Given the description of an element on the screen output the (x, y) to click on. 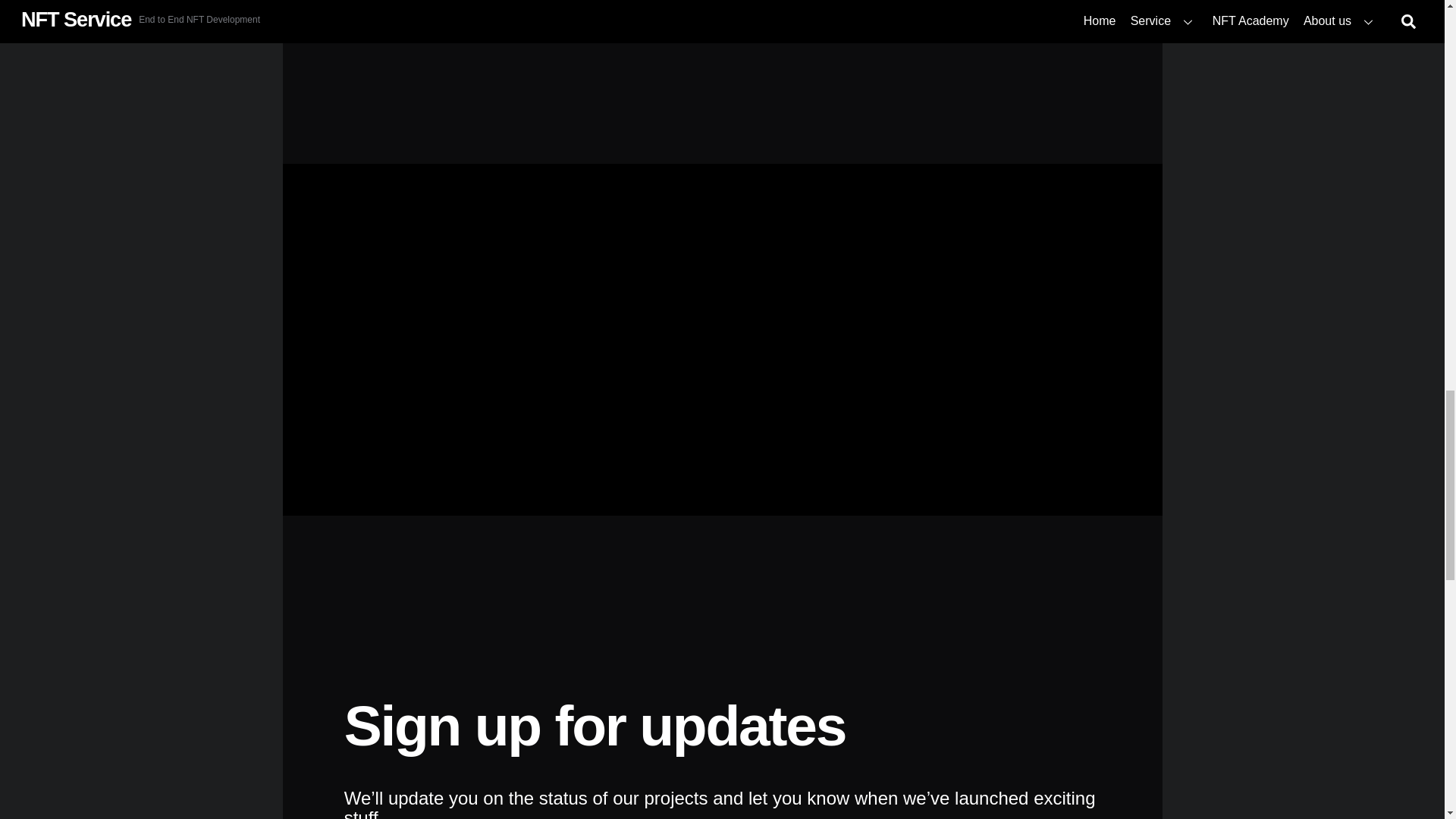
Discord - Icon - 250x250 (398, 15)
Pinterest - Icon - 250x250 (561, 12)
